Given the description of an element on the screen output the (x, y) to click on. 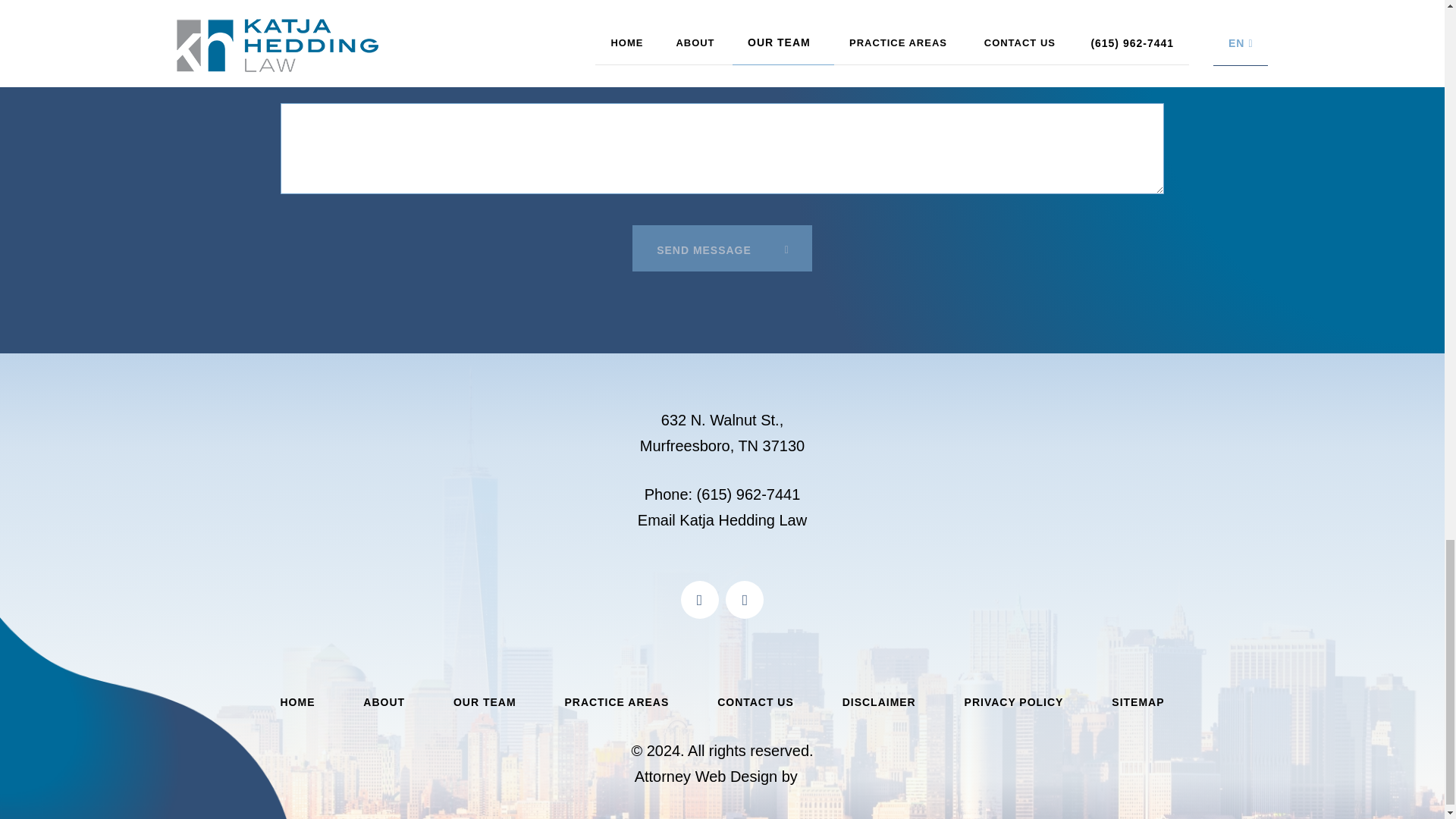
Email Katja Hedding Law (721, 519)
Attorney Web Design by (715, 776)
SITEMAP (1137, 702)
PRACTICE AREAS (616, 702)
DISCLAIMER (879, 702)
CONTACT US (755, 702)
PRIVACY POLICY (1013, 702)
HOME (298, 702)
ABOUT (383, 702)
SEND MESSAGE (721, 248)
OUR TEAM (484, 702)
